Given the description of an element on the screen output the (x, y) to click on. 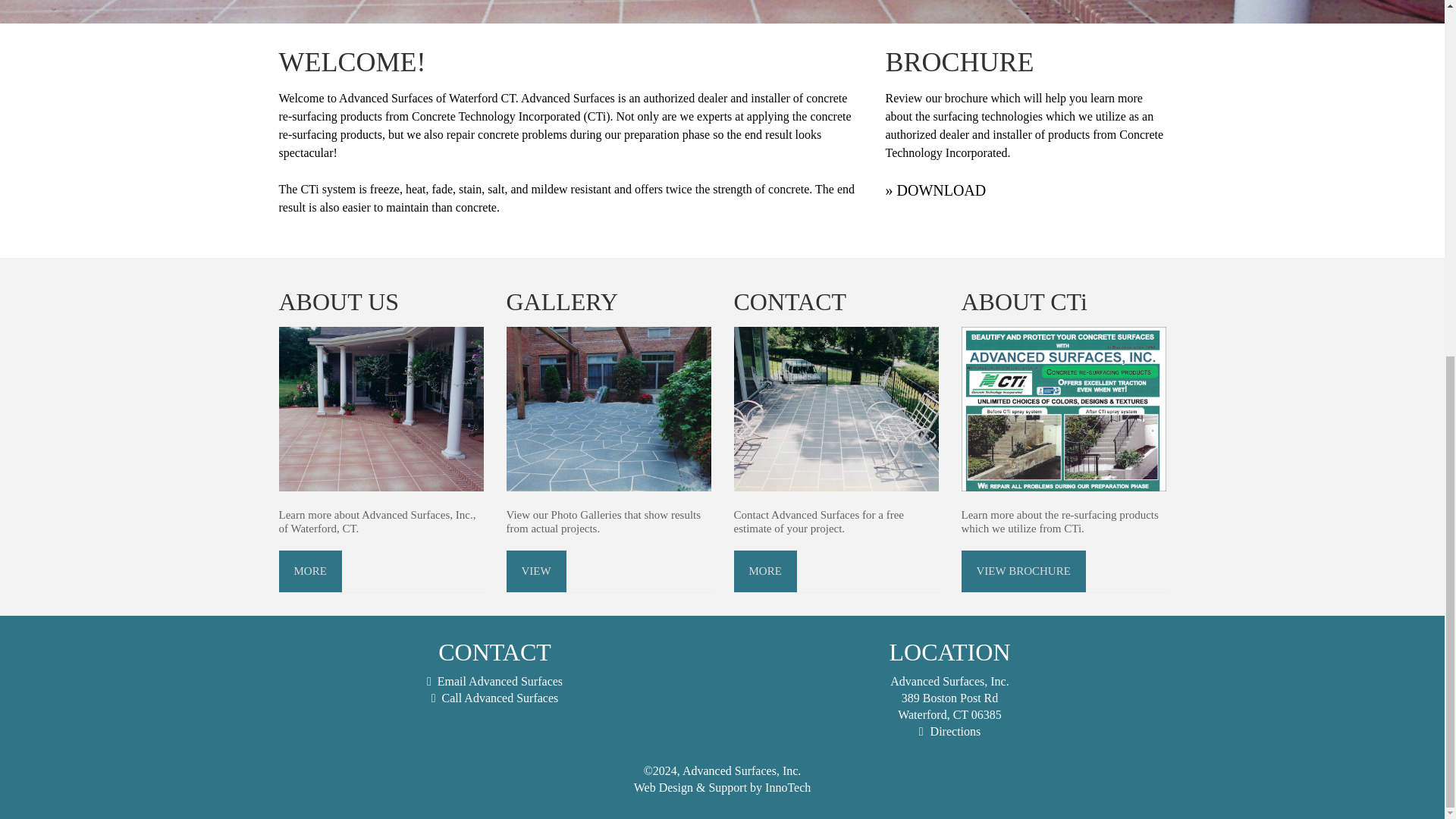
Learn more about Advanced Surfaces, Inc of Waterford, CT. (381, 408)
Call Advanced Surfaces (500, 697)
VIEW (536, 571)
MORE (310, 571)
Directions (955, 730)
MORE (764, 571)
DOWNLOAD (940, 190)
Email Advanced Surfaces (500, 680)
Advanced Surfaces, Inc. (741, 770)
VIEW BROCHURE (1023, 571)
